Given the description of an element on the screen output the (x, y) to click on. 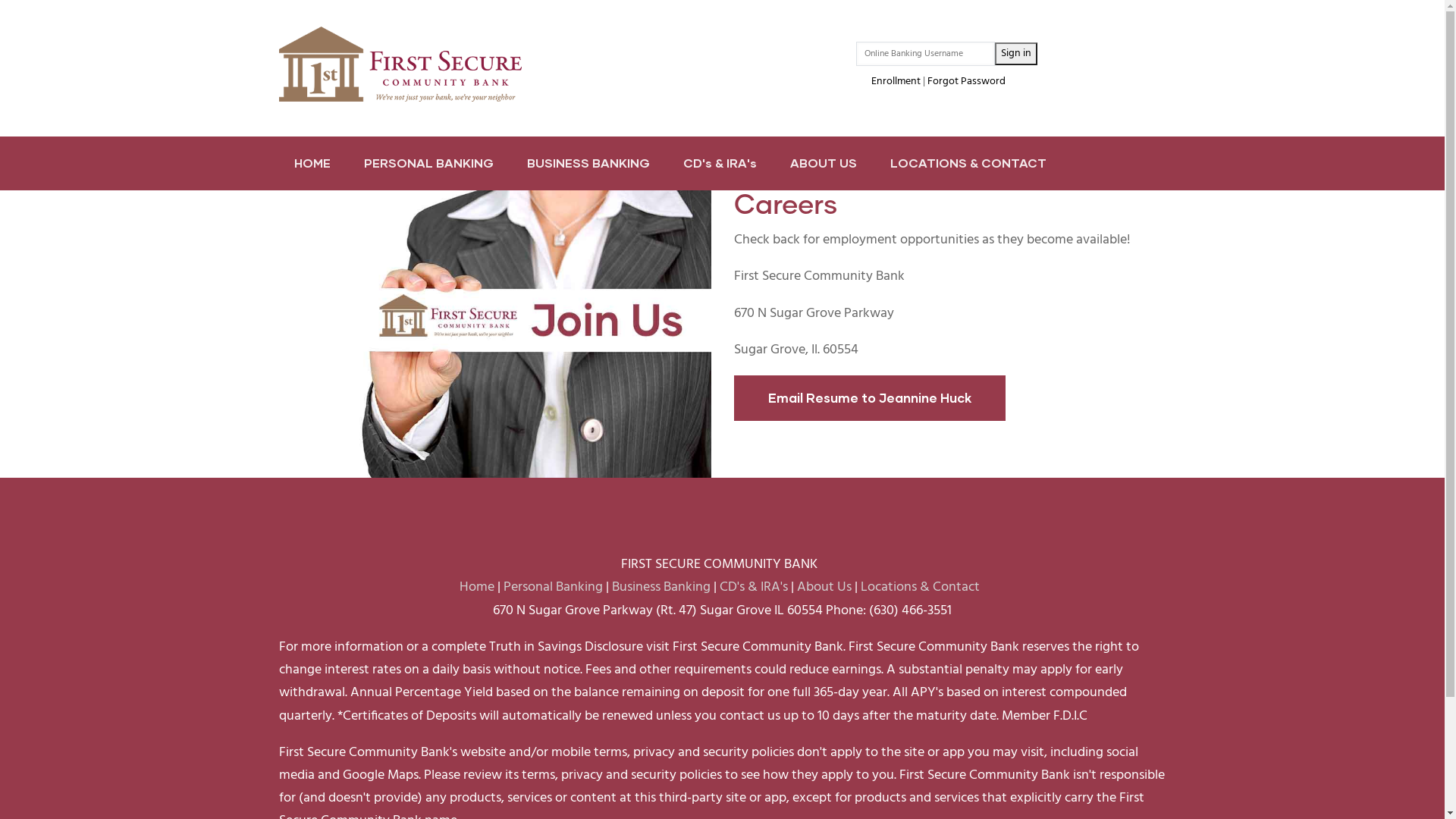
Enrollment Element type: text (895, 81)
Email Resume to Jeannine Huck Element type: text (869, 397)
Locations & Contact Element type: text (919, 587)
Personal Banking Element type: text (552, 587)
Forgot Password Element type: text (966, 81)
CD's & IRA's Element type: text (719, 163)
PERSONAL BANKING Element type: text (428, 163)
HOME Element type: text (312, 163)
CD's & IRA's Element type: text (752, 587)
About Us Element type: text (823, 587)
Home Element type: hover (400, 63)
Home Element type: text (476, 587)
LOCATIONS & CONTACT Element type: text (968, 163)
BUSINESS BANKING Element type: text (587, 163)
Skip to main content Element type: text (0, 0)
Sign in Element type: text (1015, 53)
ABOUT US Element type: text (823, 163)
Business Banking Element type: text (660, 587)
